Given the description of an element on the screen output the (x, y) to click on. 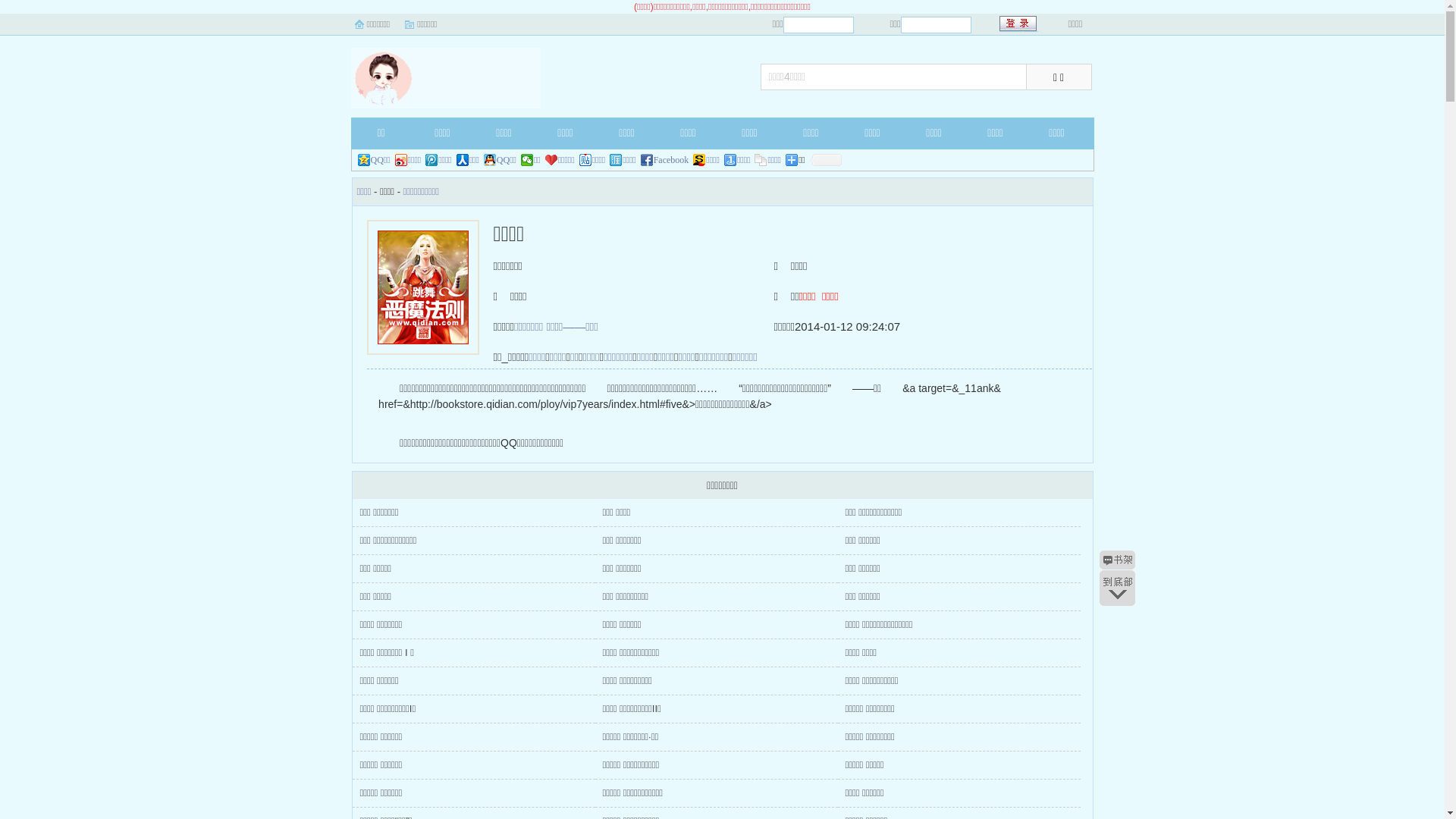
Facebook Element type: text (664, 159)
